Given the description of an element on the screen output the (x, y) to click on. 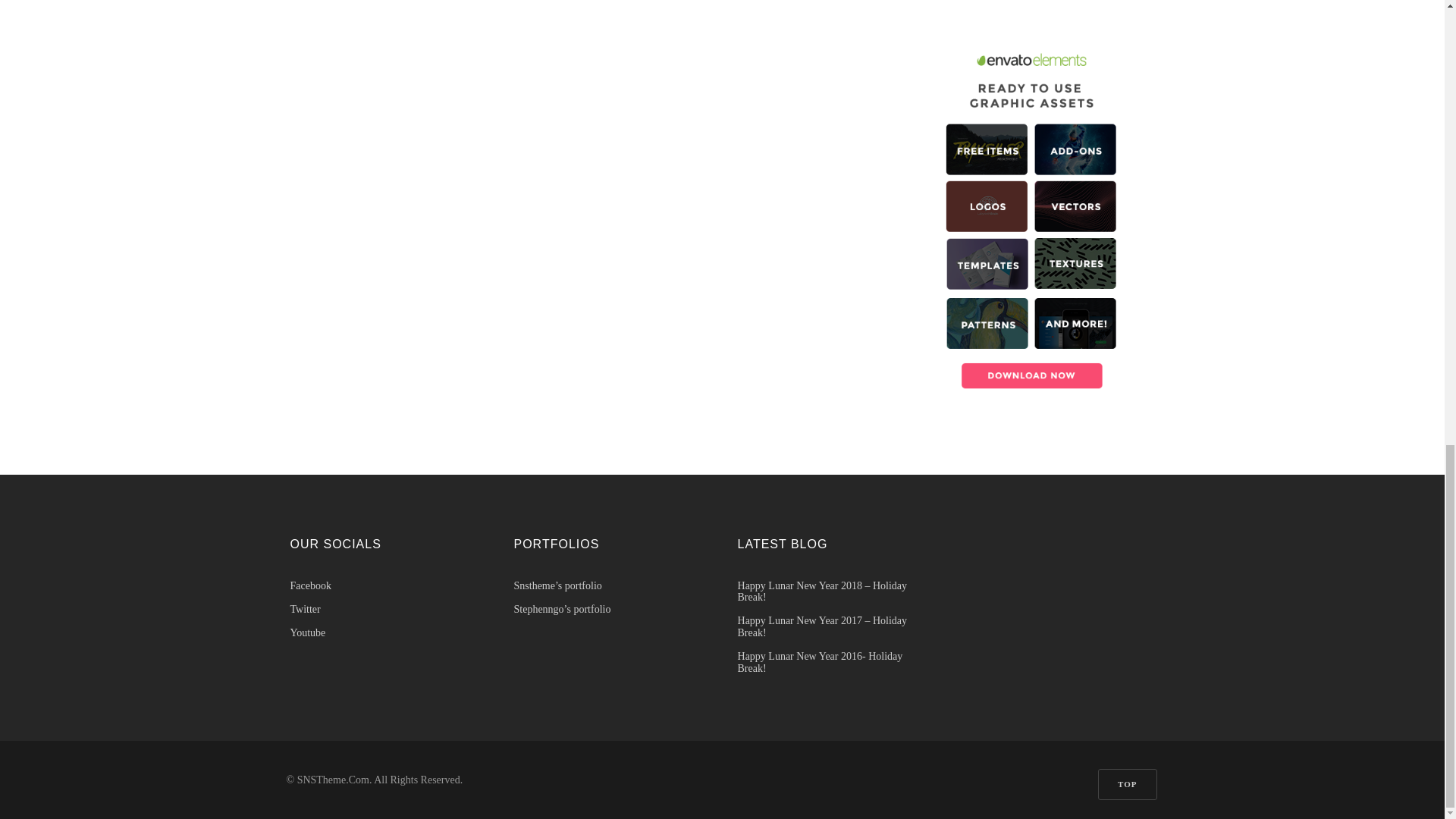
Twitter (386, 609)
Facebook (386, 585)
